Given the description of an element on the screen output the (x, y) to click on. 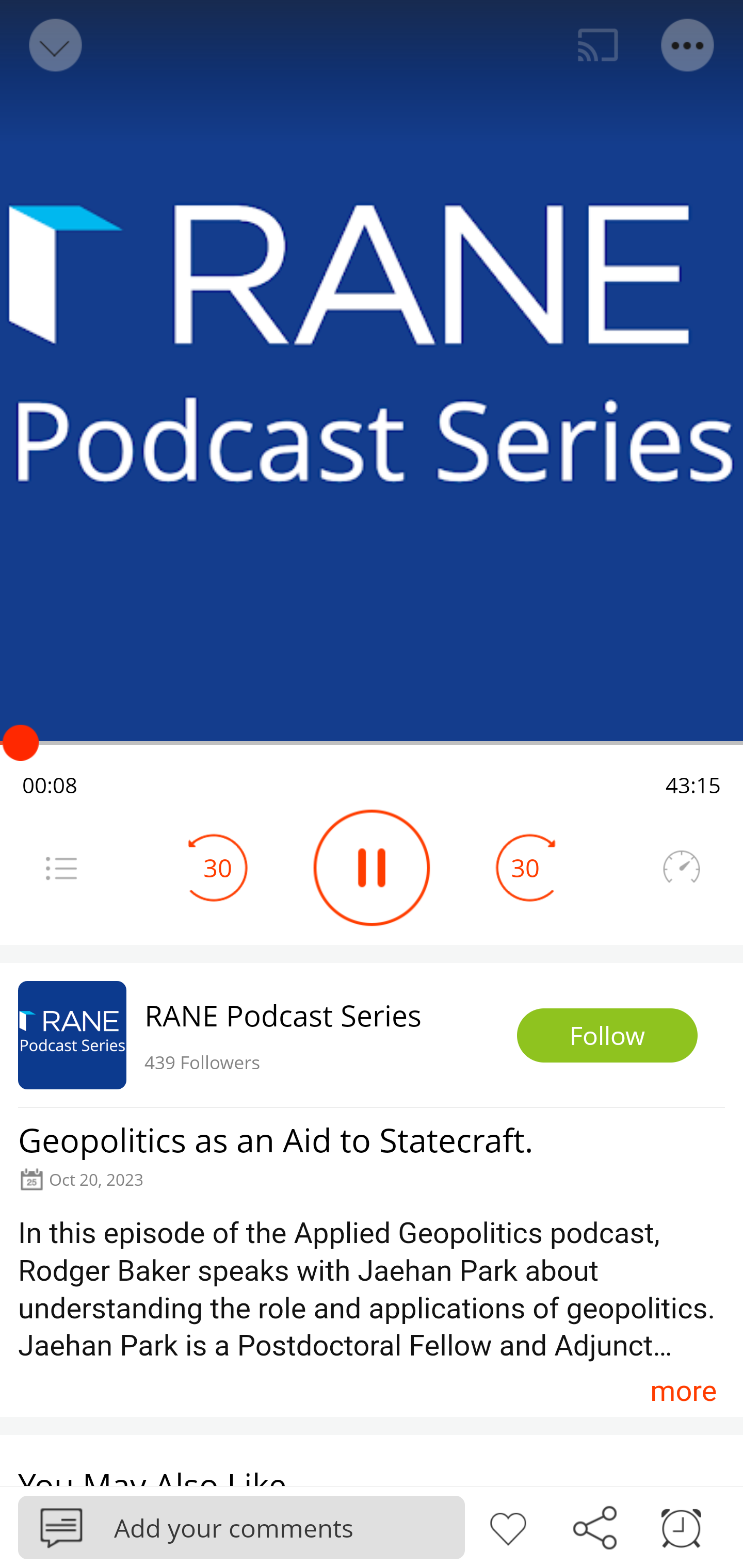
Back (53, 45)
Cast. Disconnected (597, 45)
Menu (688, 45)
Play (371, 867)
30 Seek Backward (217, 867)
30 Seek Forward (525, 867)
Menu (60, 867)
Speedometer (681, 867)
RANE Podcast Series 439 Followers Follow (371, 1034)
Follow (607, 1035)
more (682, 1390)
Like (508, 1526)
Share (594, 1526)
Sleep timer (681, 1526)
Podbean Add your comments (241, 1526)
